Given the description of an element on the screen output the (x, y) to click on. 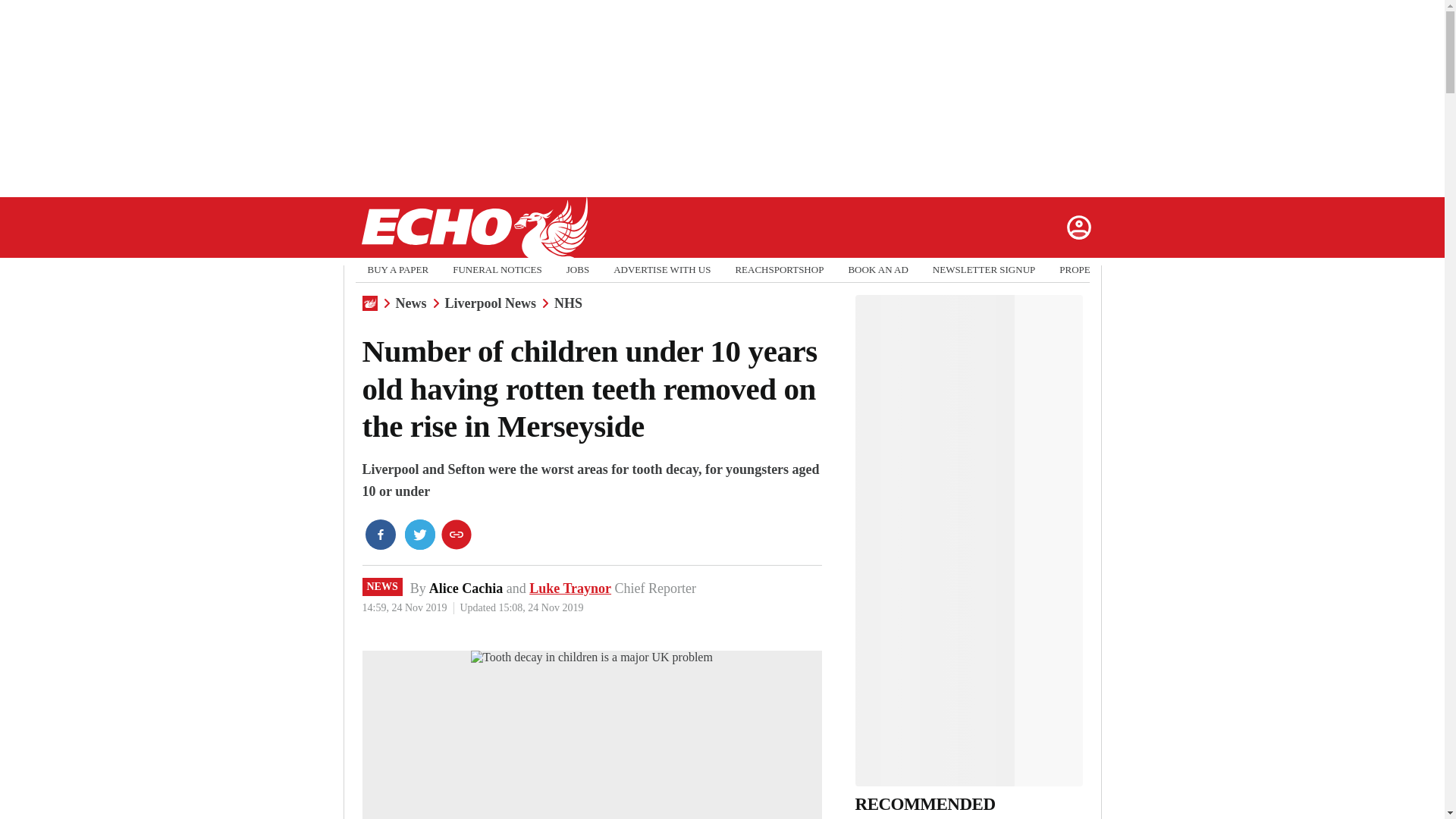
avatar (1077, 227)
REACHSPORTSHOP (779, 270)
NEWS (382, 587)
Liverpool News (489, 303)
Go to the Liverpool Echo homepage (473, 227)
copy link (456, 534)
FUNERAL NOTICES (496, 270)
BOOK AN AD (877, 270)
NHS (568, 303)
JOBS (577, 270)
